Given the description of an element on the screen output the (x, y) to click on. 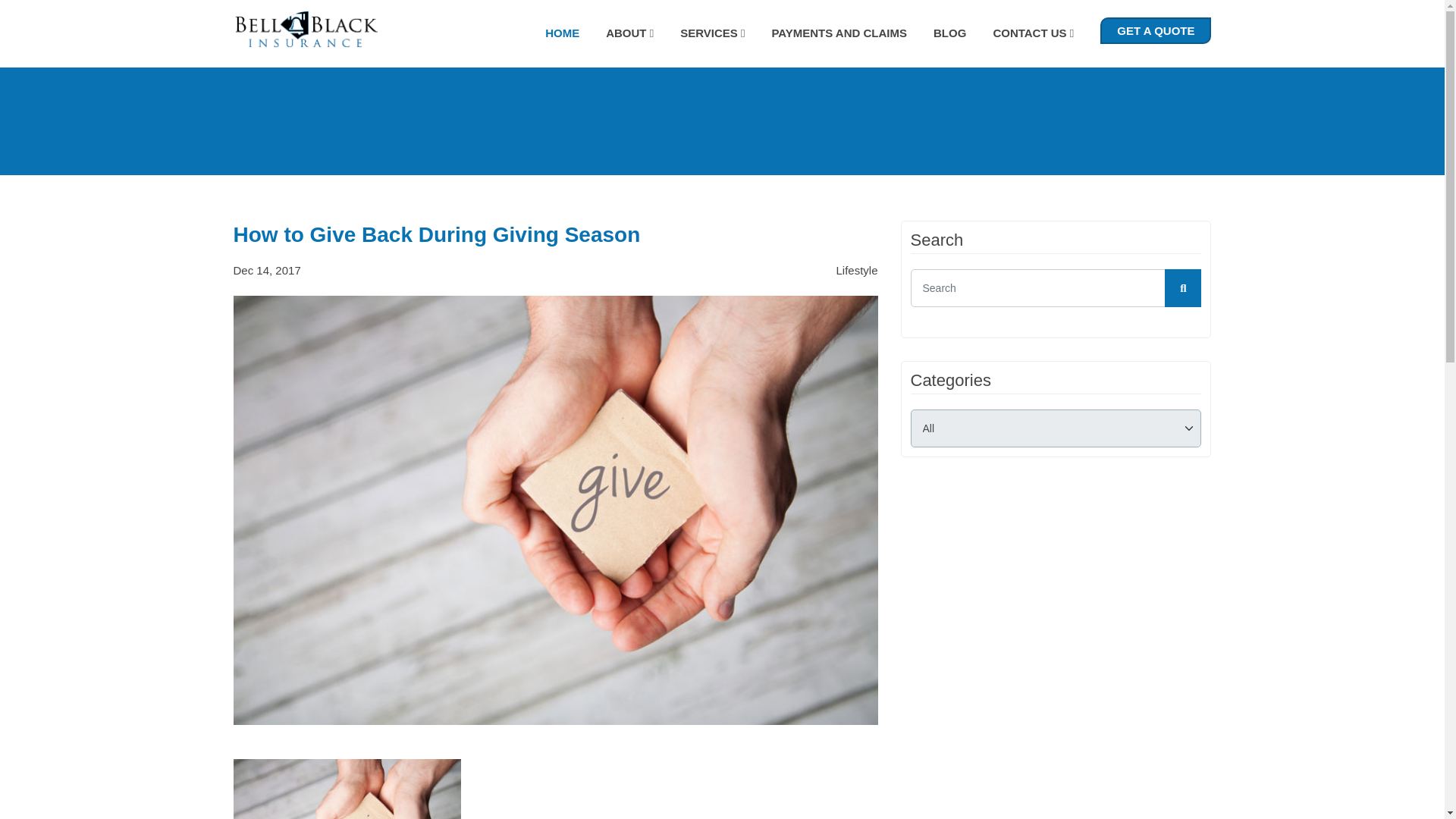
Get a Quote (1155, 30)
Payments and Claims (839, 32)
Services (711, 32)
Home (561, 32)
ABOUT (629, 32)
HOME (561, 32)
Bell Black Insurance (304, 30)
GET A QUOTE (1155, 30)
BLOG (949, 32)
SERVICES (711, 32)
